Given the description of an element on the screen output the (x, y) to click on. 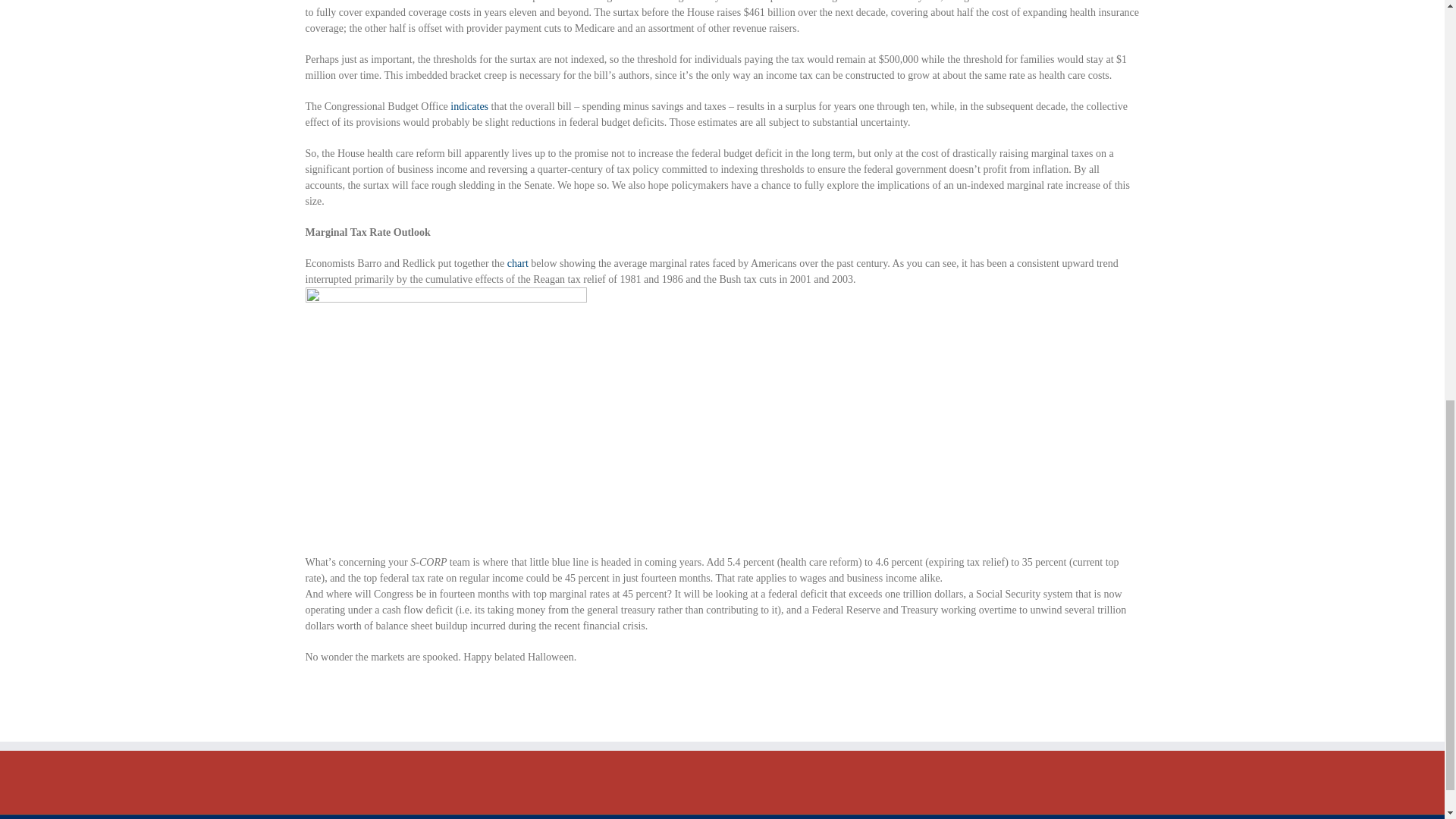
Design and effectiveness of fiscal-stimulus programmes (517, 263)
chart (517, 263)
CBO Letter to Chairman Rangel PDF (467, 106)
indicates (467, 106)
